Given the description of an element on the screen output the (x, y) to click on. 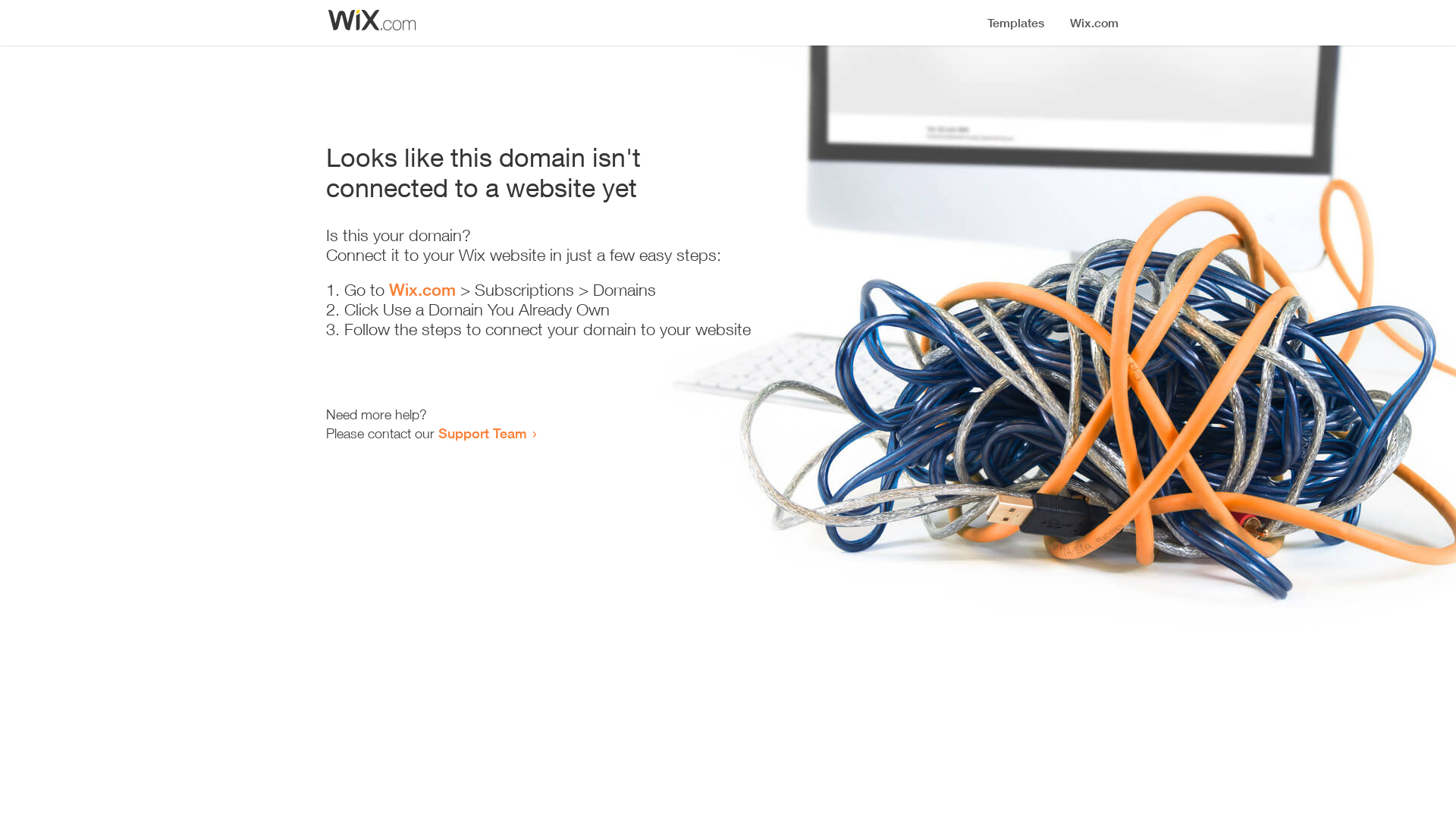
Wix.com Element type: text (422, 289)
Support Team Element type: text (482, 432)
